Given the description of an element on the screen output the (x, y) to click on. 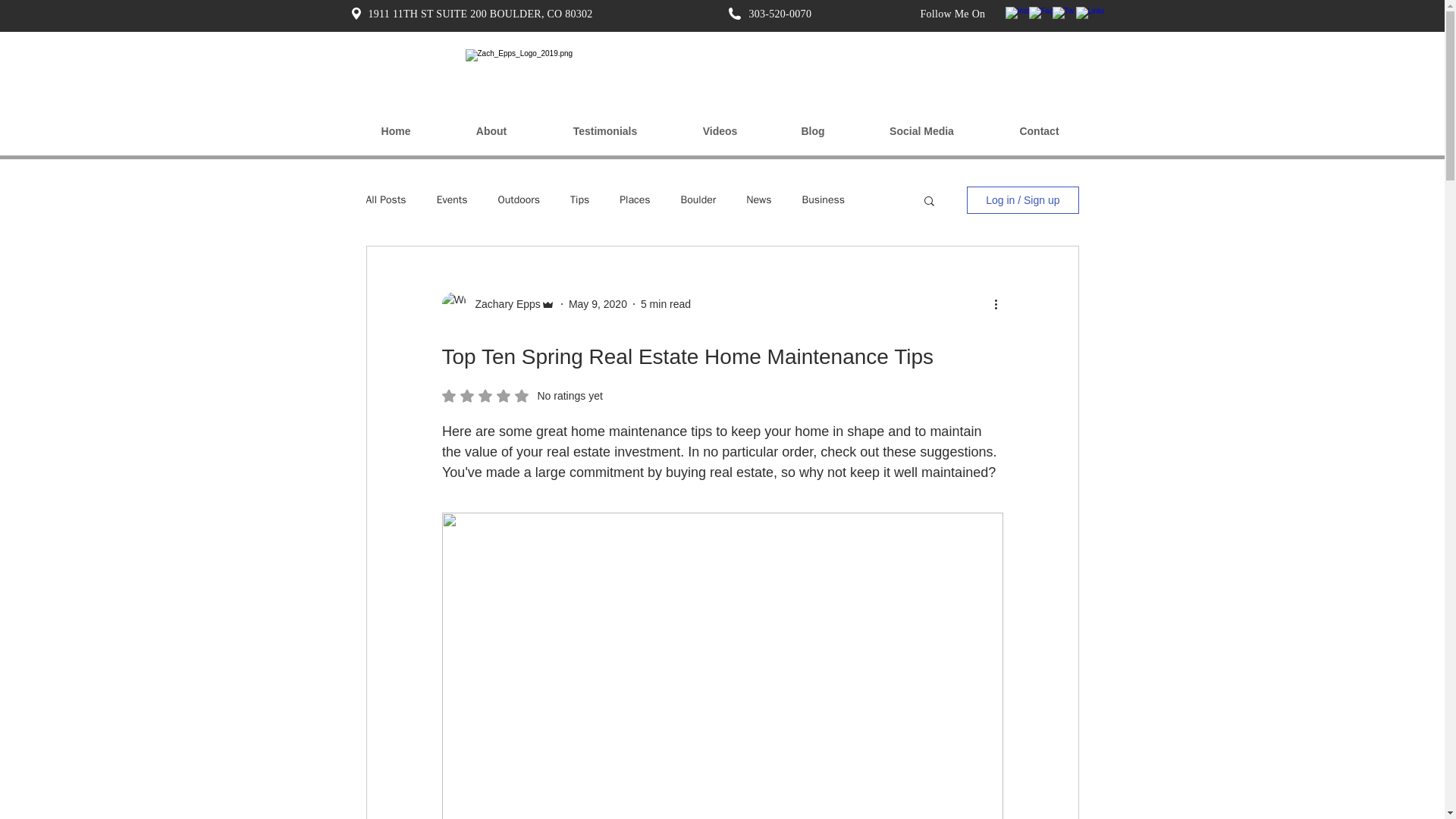
Social Media (922, 131)
Testimonials (605, 131)
News (758, 200)
All Posts (385, 200)
Blog (812, 131)
Contact (1039, 131)
303-520-0070 (780, 13)
Places (634, 200)
About (490, 131)
Follow Me On (952, 13)
